Given the description of an element on the screen output the (x, y) to click on. 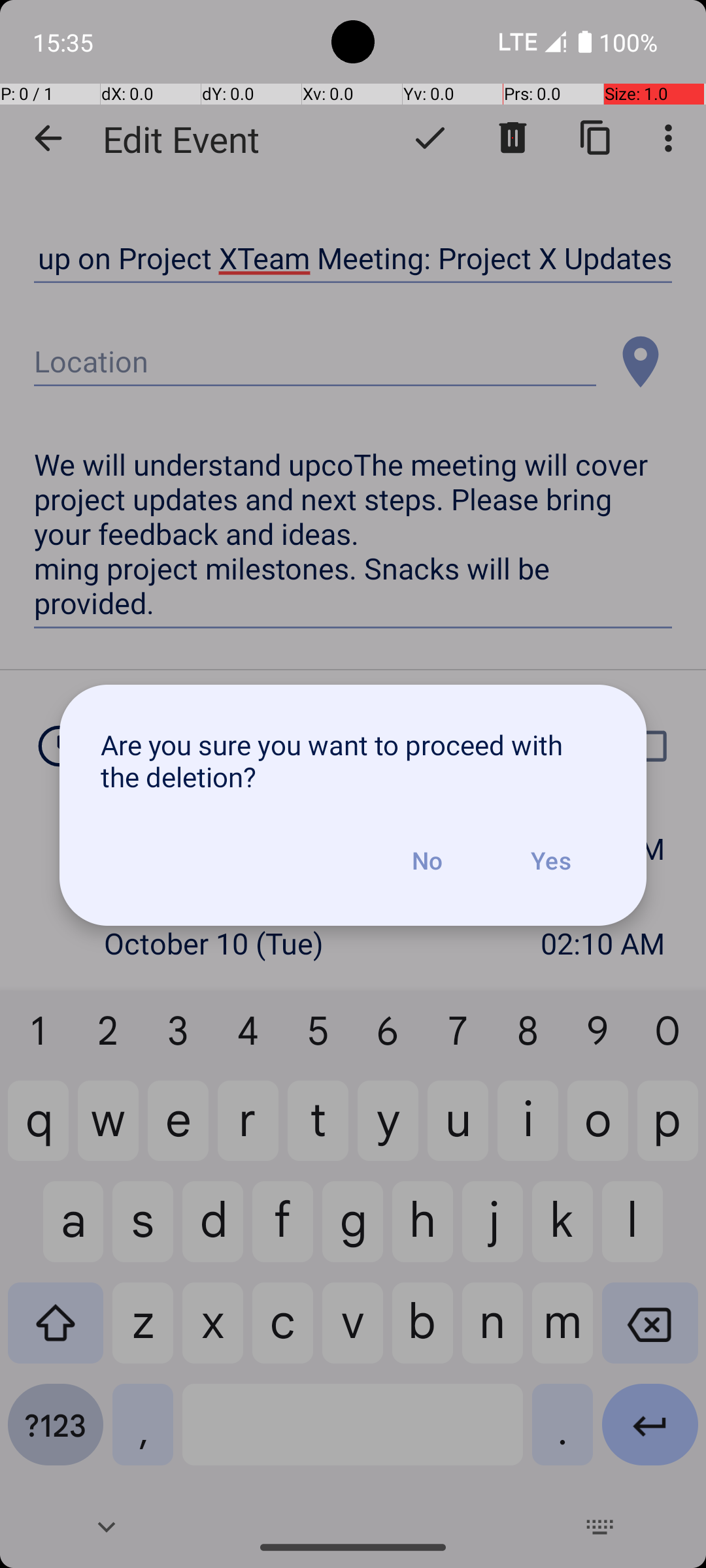
Are you sure you want to proceed with the deletion? Element type: android.widget.TextView (352, 760)
No Element type: android.widget.Button (426, 860)
Yes Element type: android.widget.Button (550, 860)
